Given the description of an element on the screen output the (x, y) to click on. 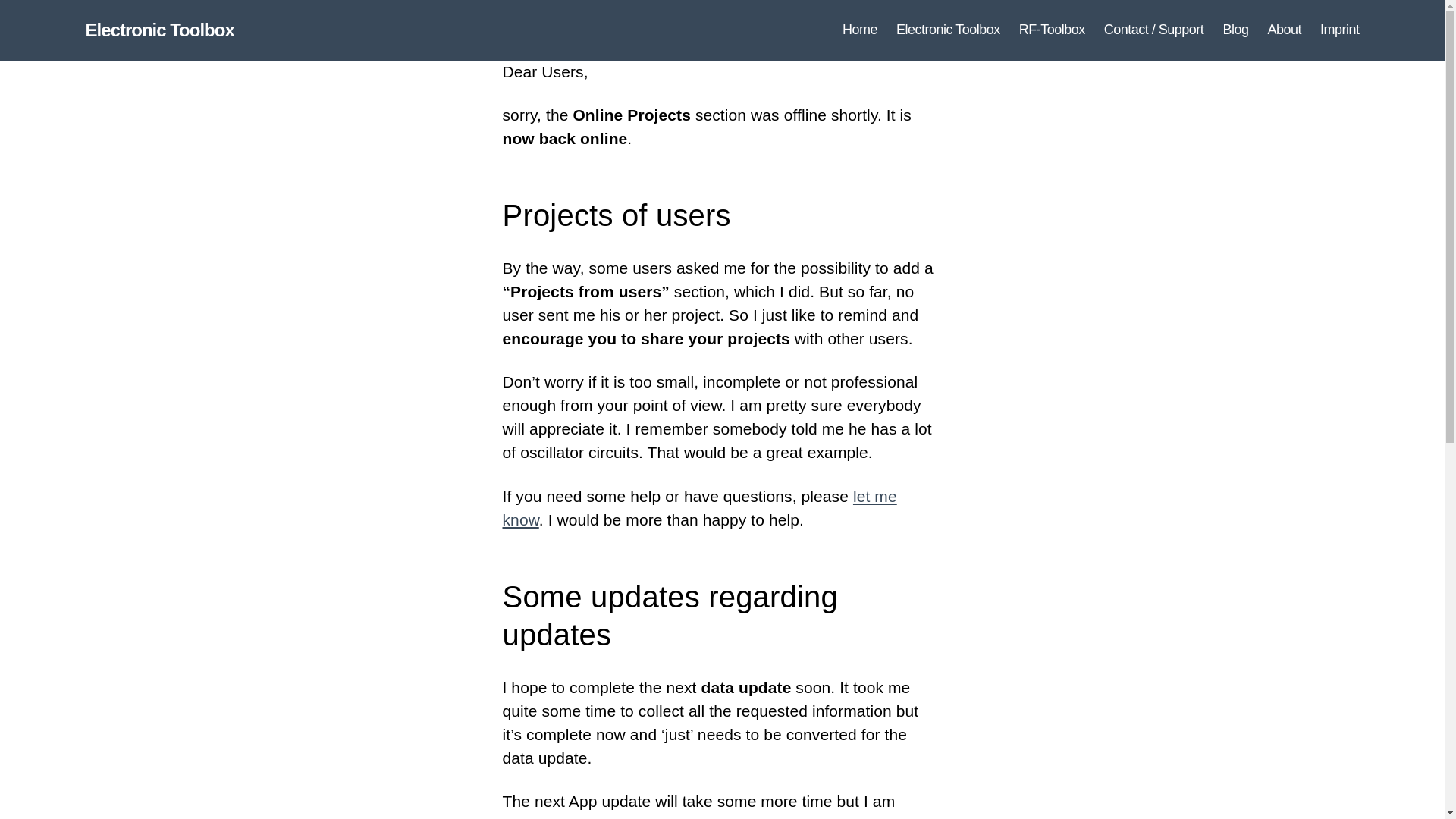
About (1283, 30)
Imprint (1339, 30)
Home (860, 30)
let me know (699, 507)
Electronic Toolbox (158, 30)
RF-Toolbox (1051, 30)
Blog (1235, 30)
Electronic Toolbox (948, 30)
